Given the description of an element on the screen output the (x, y) to click on. 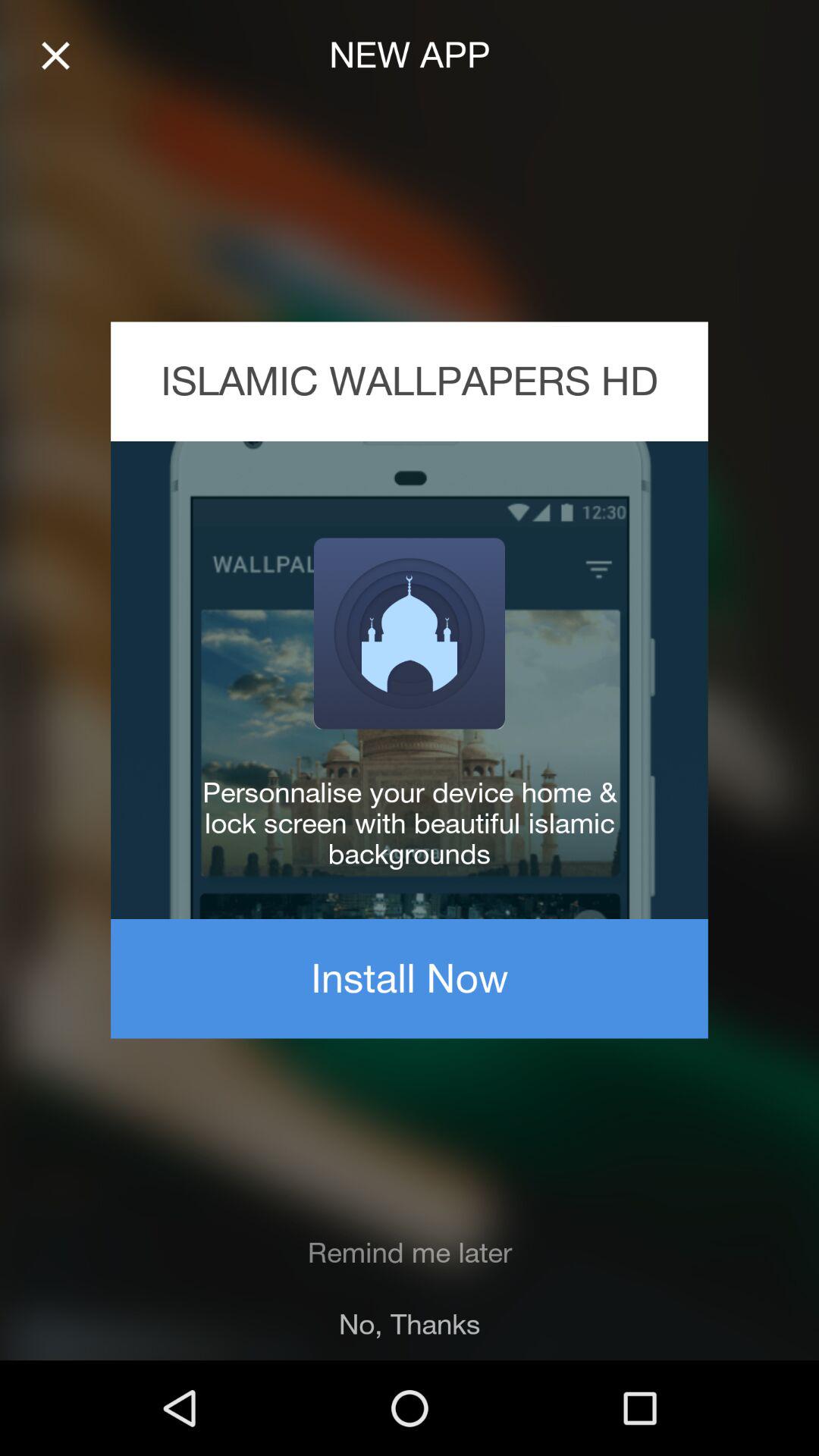
open no, thanks (409, 1324)
